Given the description of an element on the screen output the (x, y) to click on. 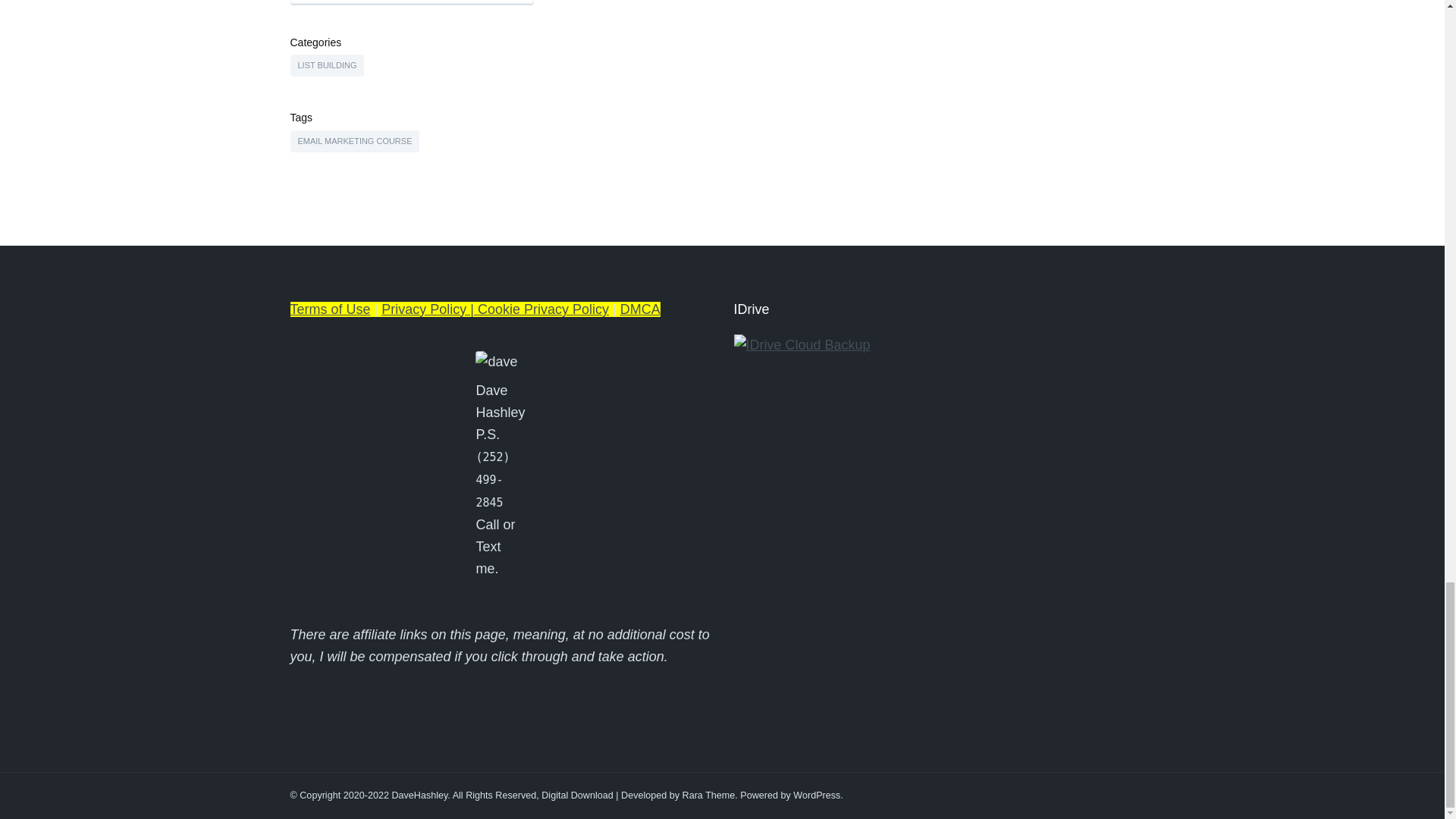
EMAIL MARKETING COURSE (354, 141)
Rara Theme (708, 795)
DMCA (640, 309)
LIST BUILDING (326, 65)
Privacy Policy (423, 309)
IDrive Cloud Backup (801, 345)
WordPress (816, 795)
Terms of Use (329, 309)
